Given the description of an element on the screen output the (x, y) to click on. 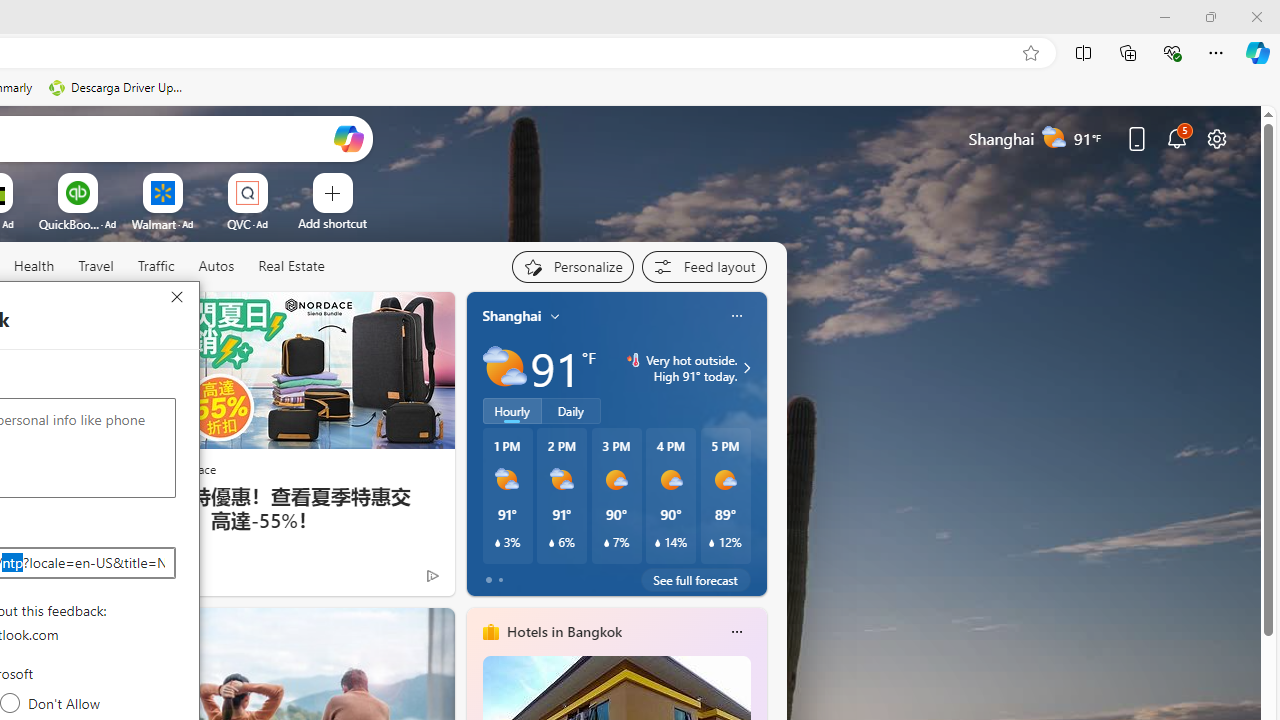
Partly sunny (504, 368)
Traffic (155, 267)
Page settings (1216, 138)
Class: weather-current-precipitation-glyph (712, 543)
My location (555, 315)
tab-1 (500, 579)
Descarga Driver Updater (118, 88)
Traffic (155, 265)
Health (34, 265)
